Given the description of an element on the screen output the (x, y) to click on. 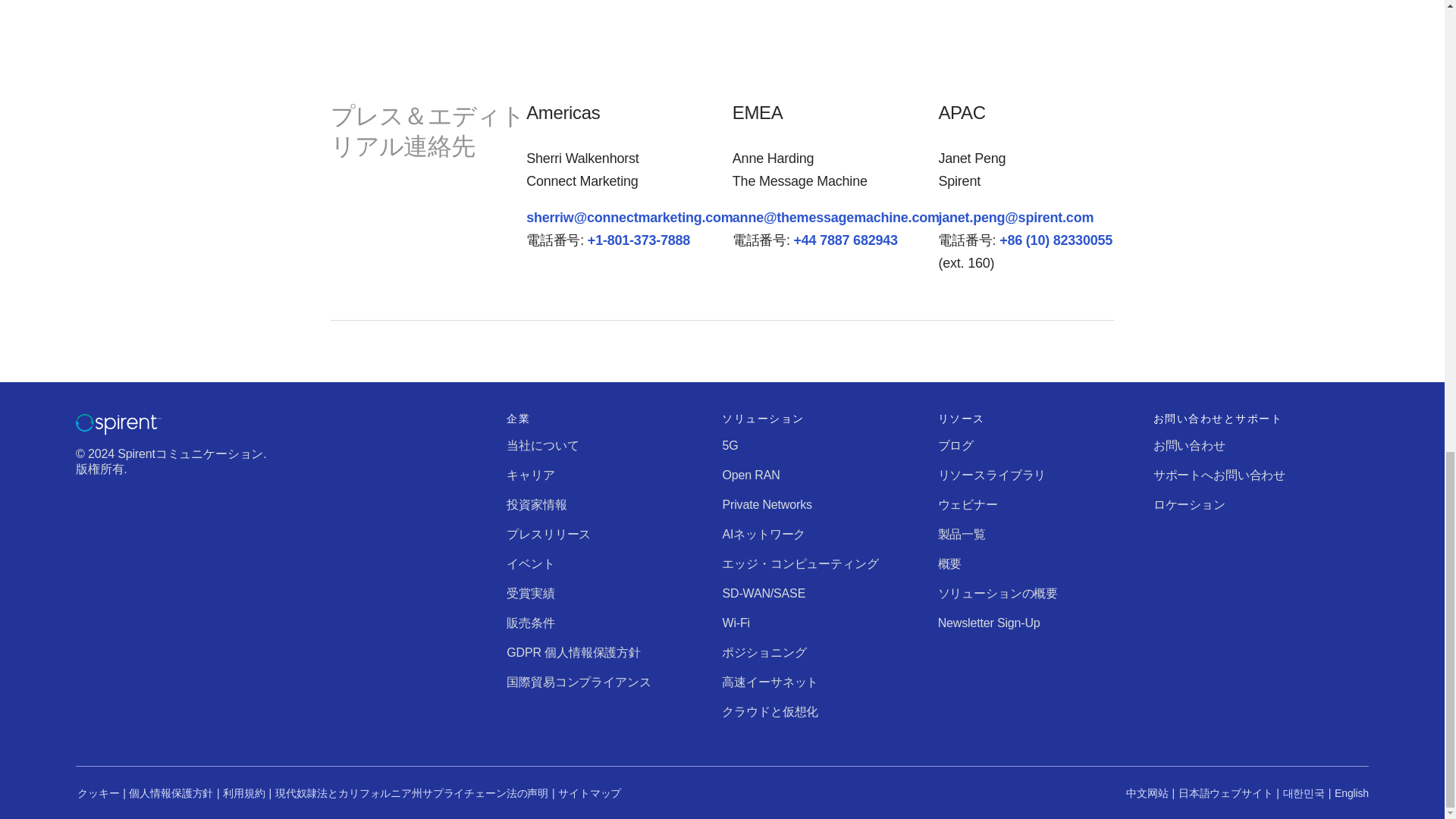
Private Networks (766, 504)
Open RAN (750, 474)
5G (730, 445)
